Given the description of an element on the screen output the (x, y) to click on. 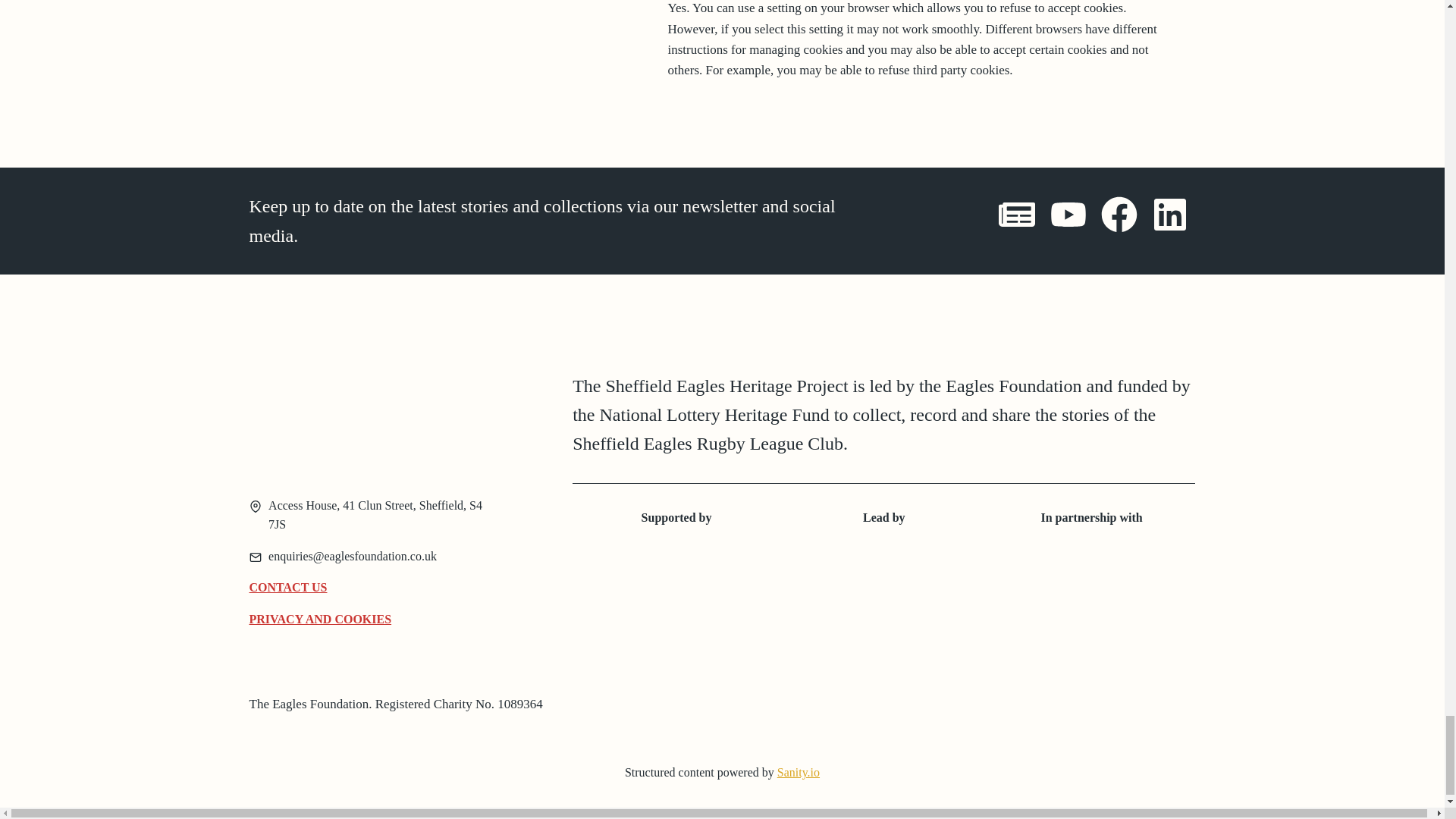
Sheffield Eagles LinkedIn page (1169, 219)
Sheffield Eagles facebook page (1118, 219)
PRIVACY AND COOKIES (319, 619)
CONTACT US (287, 587)
Sanity.io (798, 771)
Sheffield Eagles YouTube channel (1067, 219)
Sheffield Eagles newsletter (1016, 219)
